Given the description of an element on the screen output the (x, y) to click on. 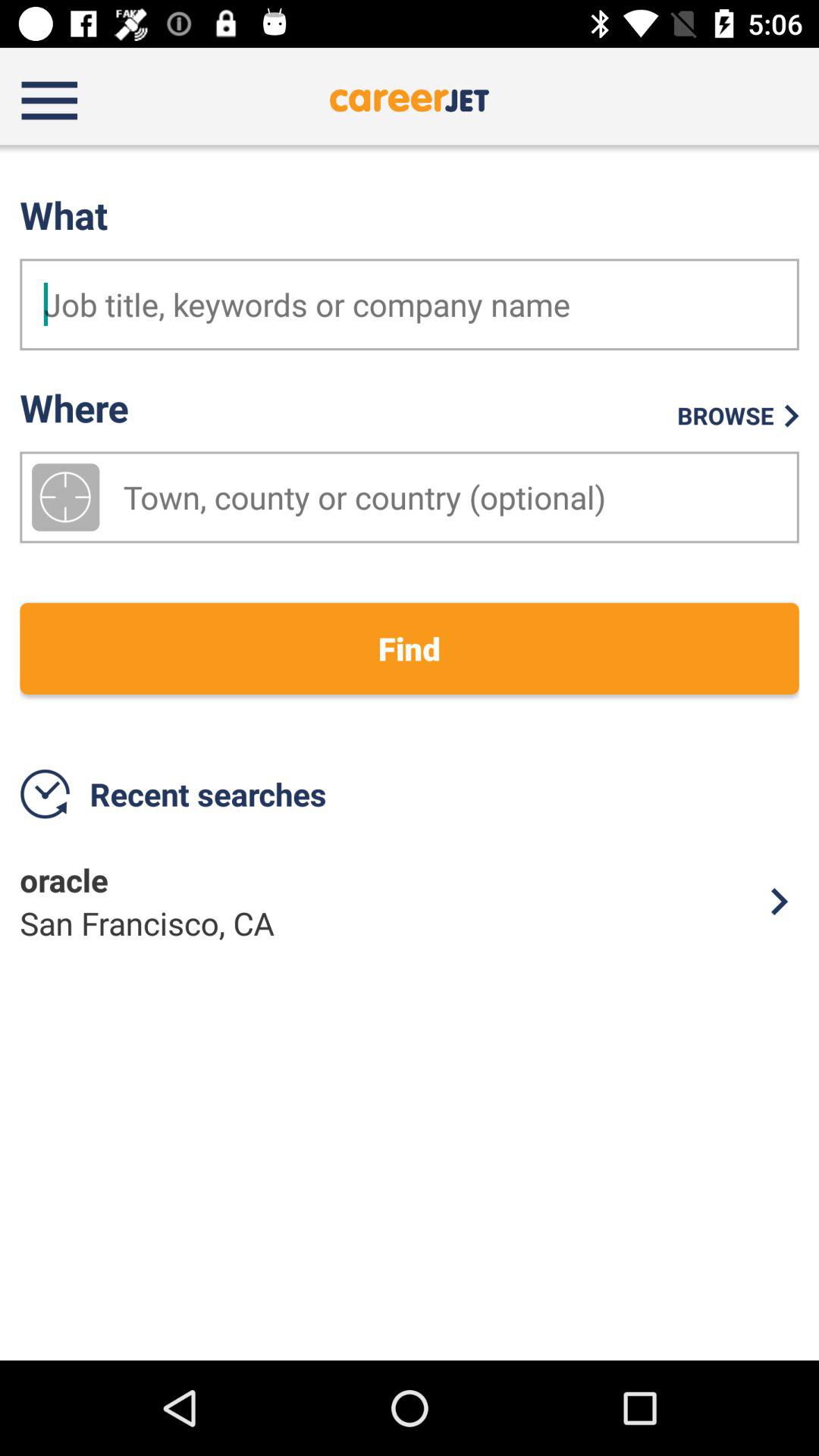
turn on icon above o icon (409, 648)
